Given the description of an element on the screen output the (x, y) to click on. 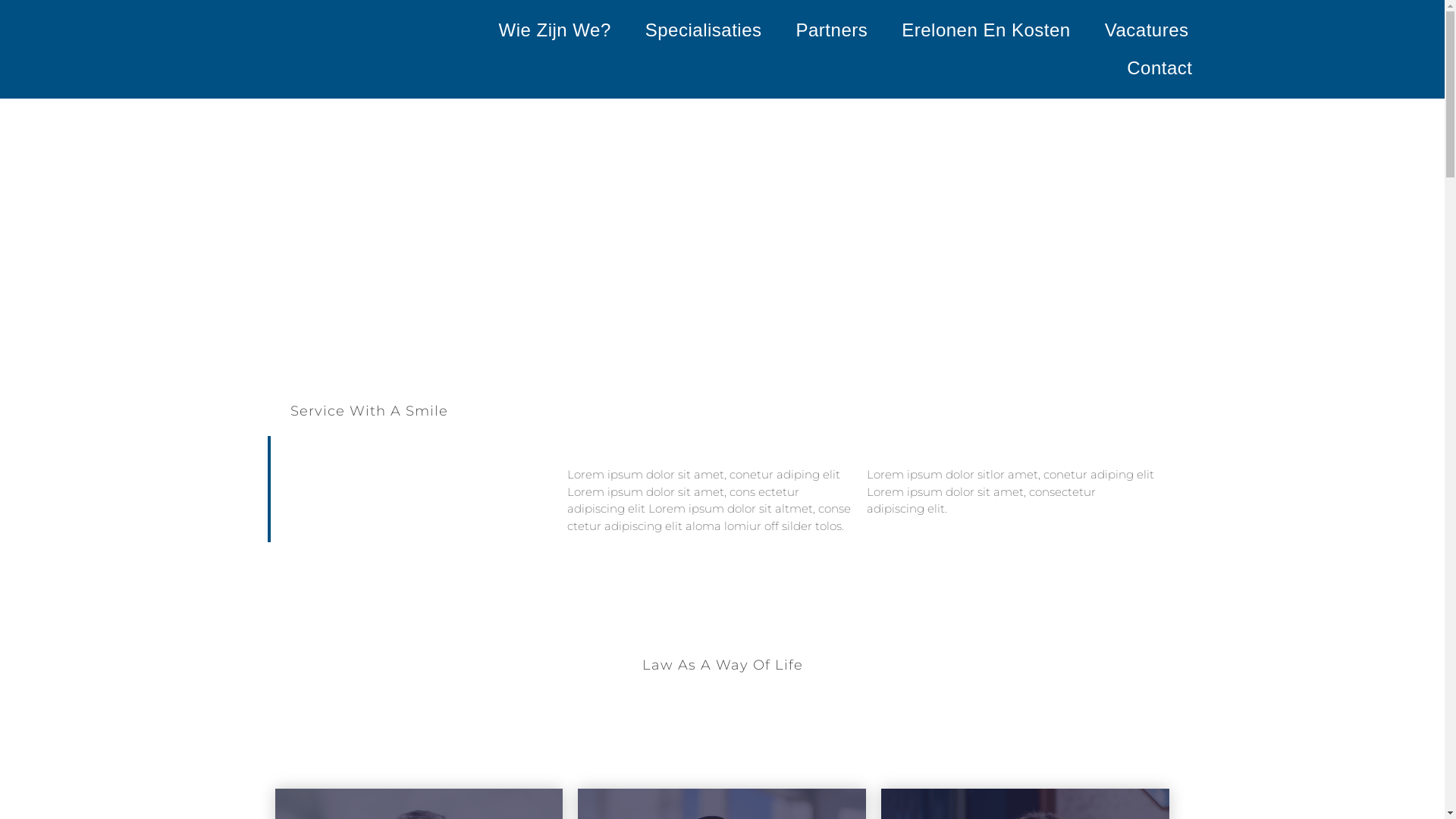
Erelonen En Kosten Element type: text (985, 30)
Vacatures Element type: text (1146, 30)
Specialisaties Element type: text (703, 30)
Wie Zijn We? Element type: text (554, 30)
Contact Element type: text (1159, 68)
Partners Element type: text (832, 30)
